Given the description of an element on the screen output the (x, y) to click on. 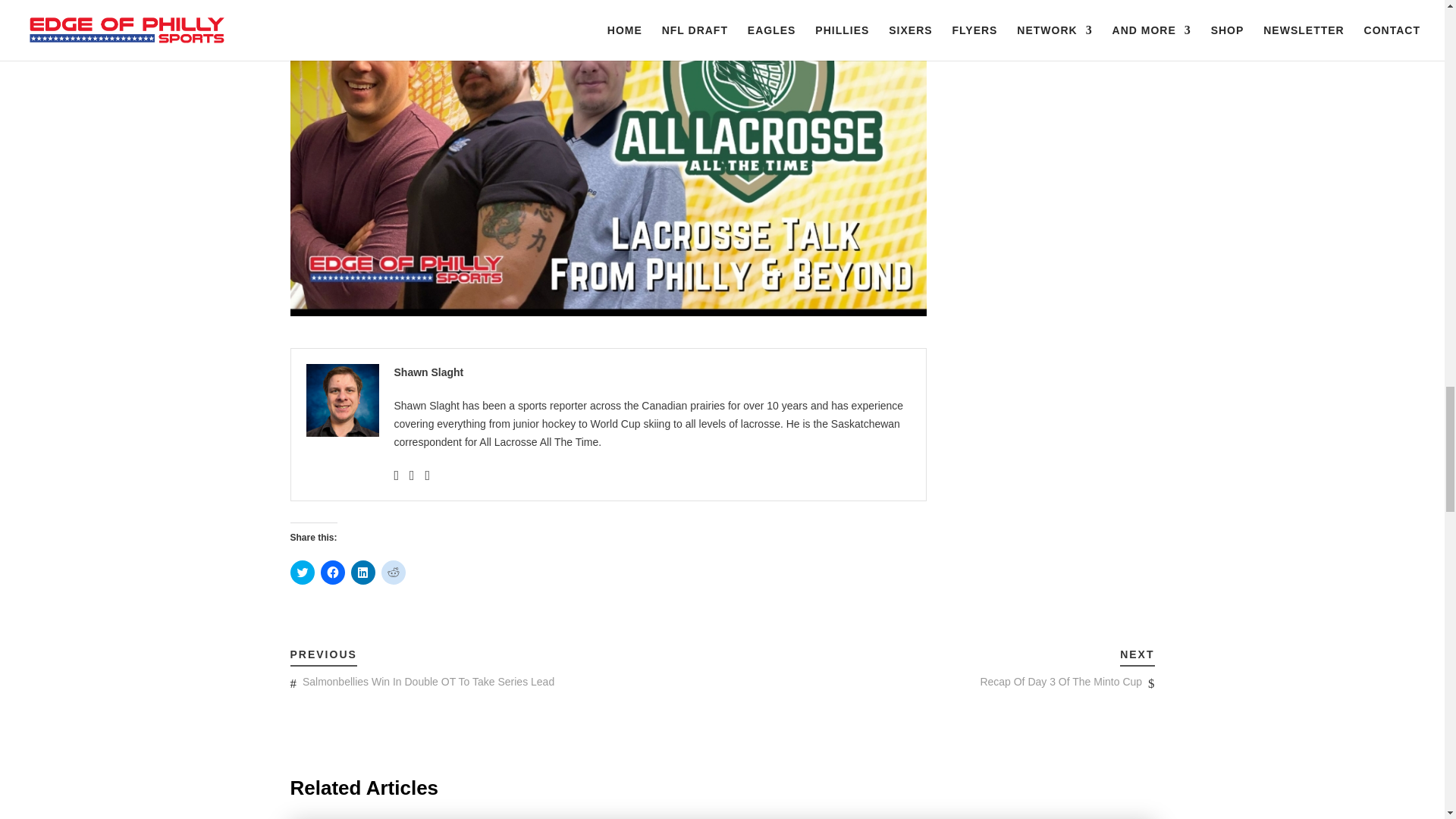
Click to share on Twitter (301, 572)
Click to share on Facebook (331, 572)
Click to share on Reddit (392, 572)
Click to share on LinkedIn (362, 572)
